Given the description of an element on the screen output the (x, y) to click on. 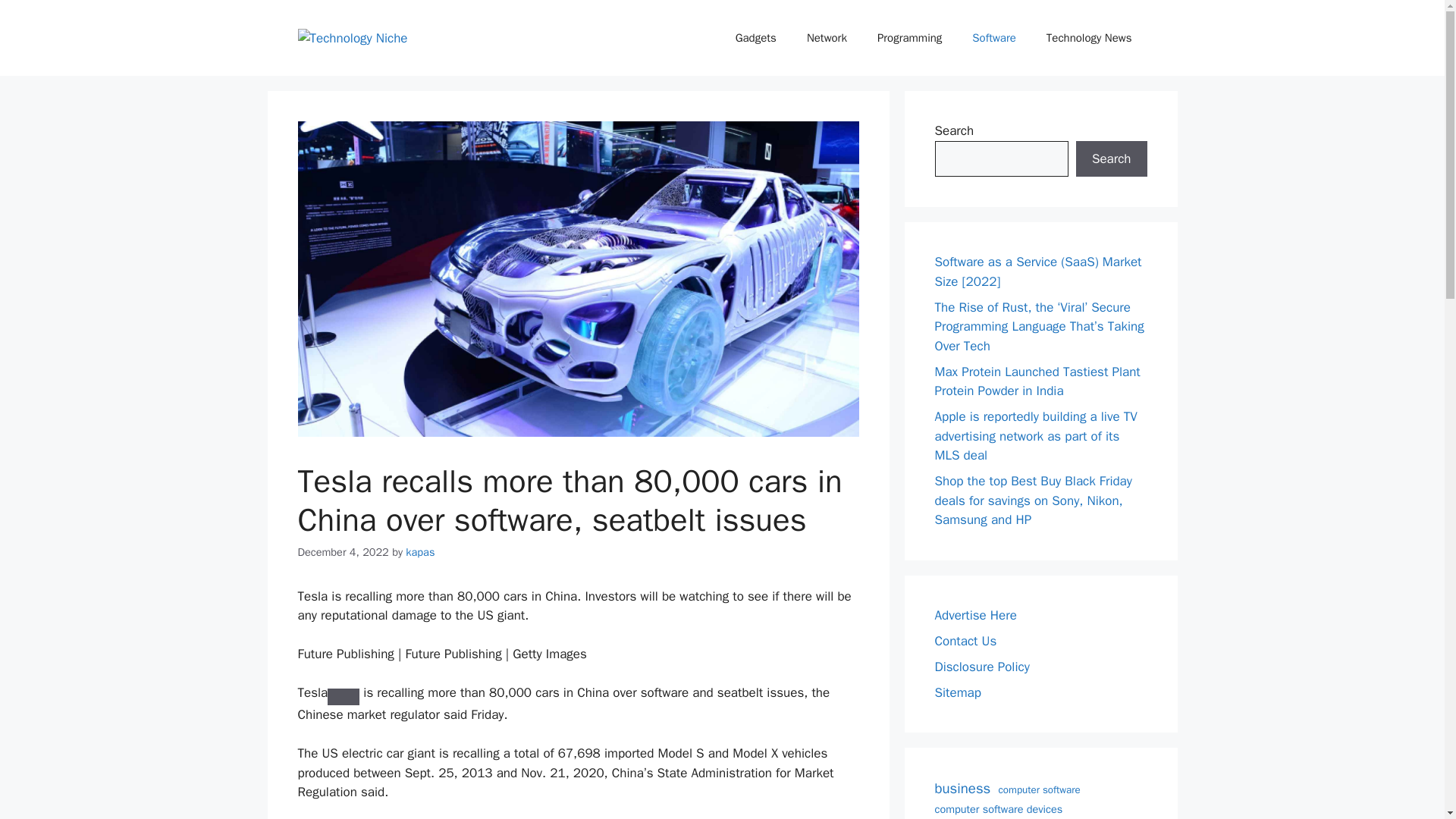
Software (993, 37)
Disclosure Policy (981, 666)
Programming (908, 37)
business (962, 788)
View all posts by kapas (419, 551)
Advertise Here (975, 614)
Search (1111, 158)
kapas (419, 551)
Contact Us (964, 640)
Technology News (1088, 37)
